Given the description of an element on the screen output the (x, y) to click on. 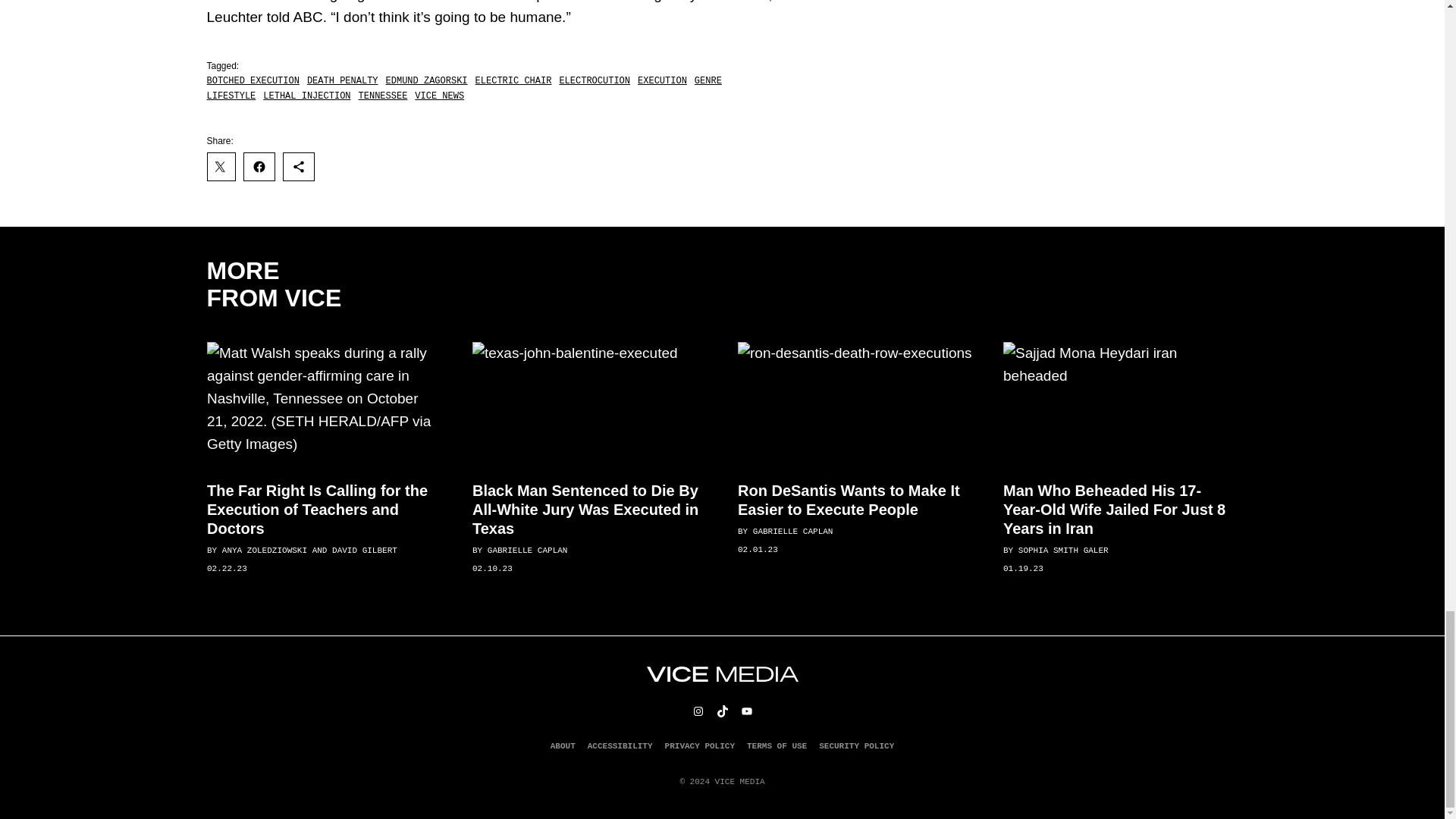
Posts by David Gilbert (364, 550)
Posts by Anya Zoledziowski (263, 550)
Posts by Gabrielle Caplan (526, 550)
